Given the description of an element on the screen output the (x, y) to click on. 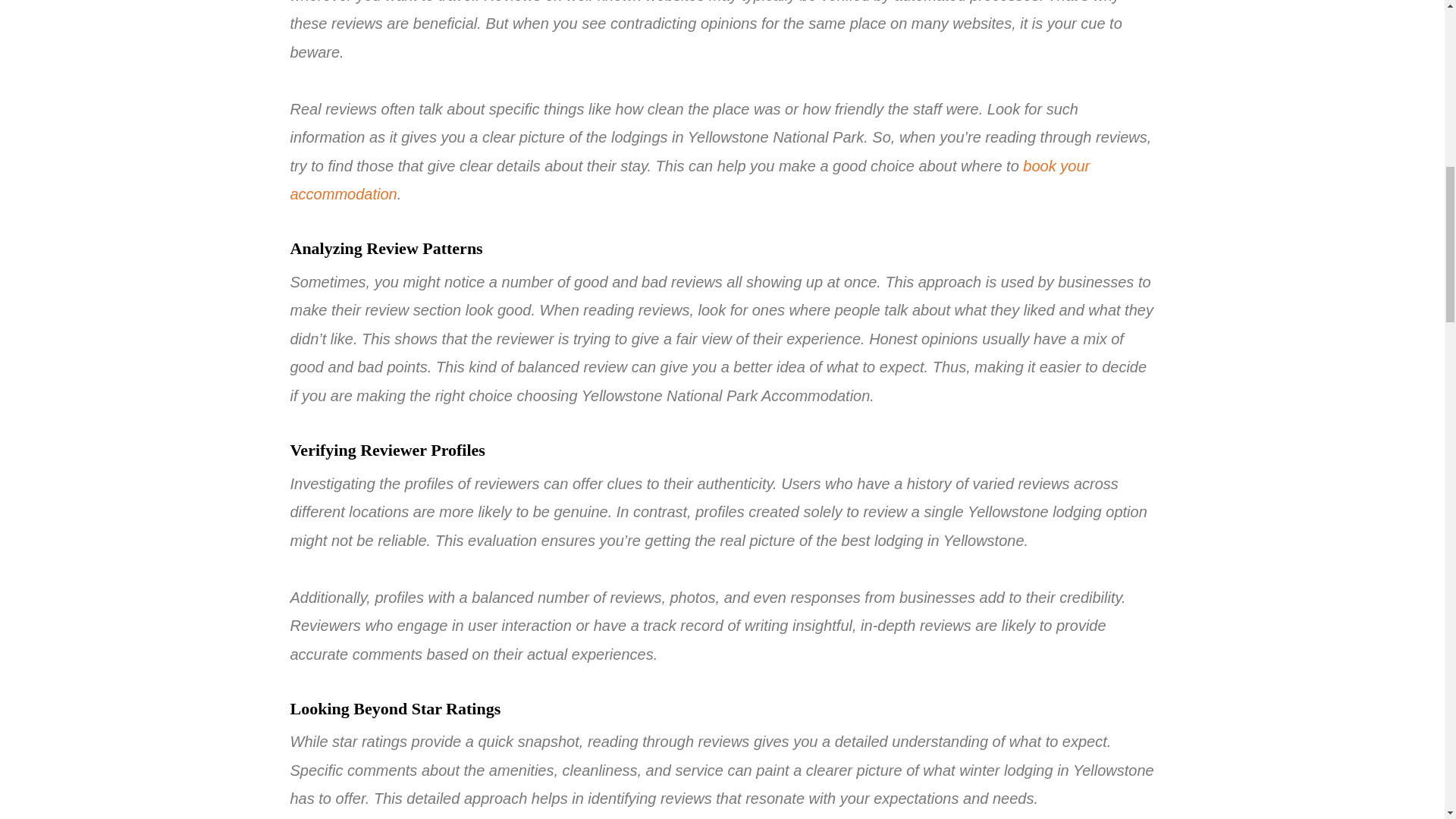
book your accommodation (689, 180)
